Given the description of an element on the screen output the (x, y) to click on. 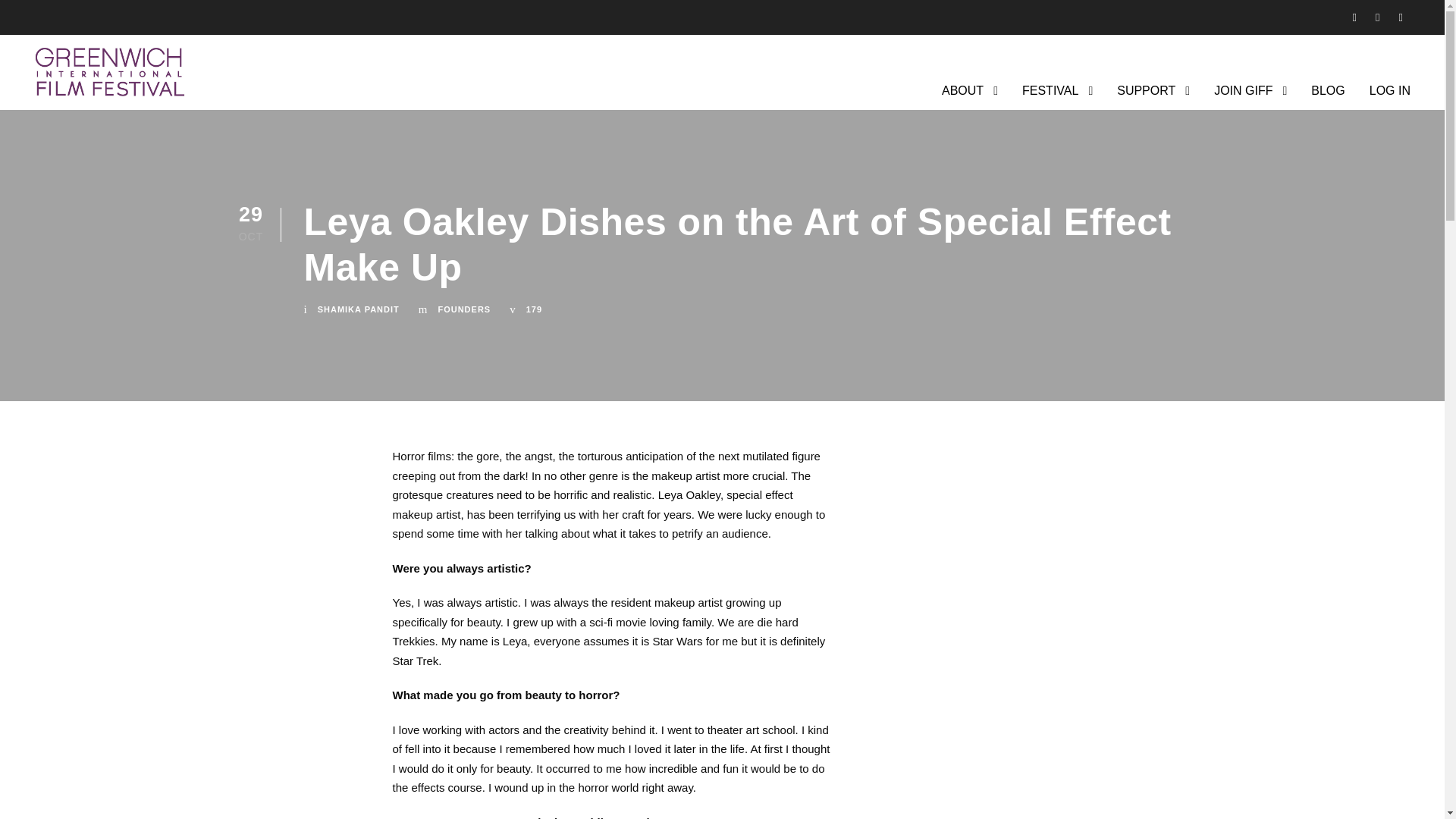
6th-annual-GIFF-logo (109, 72)
Posts by Shamika Pandit (357, 308)
